Given the description of an element on the screen output the (x, y) to click on. 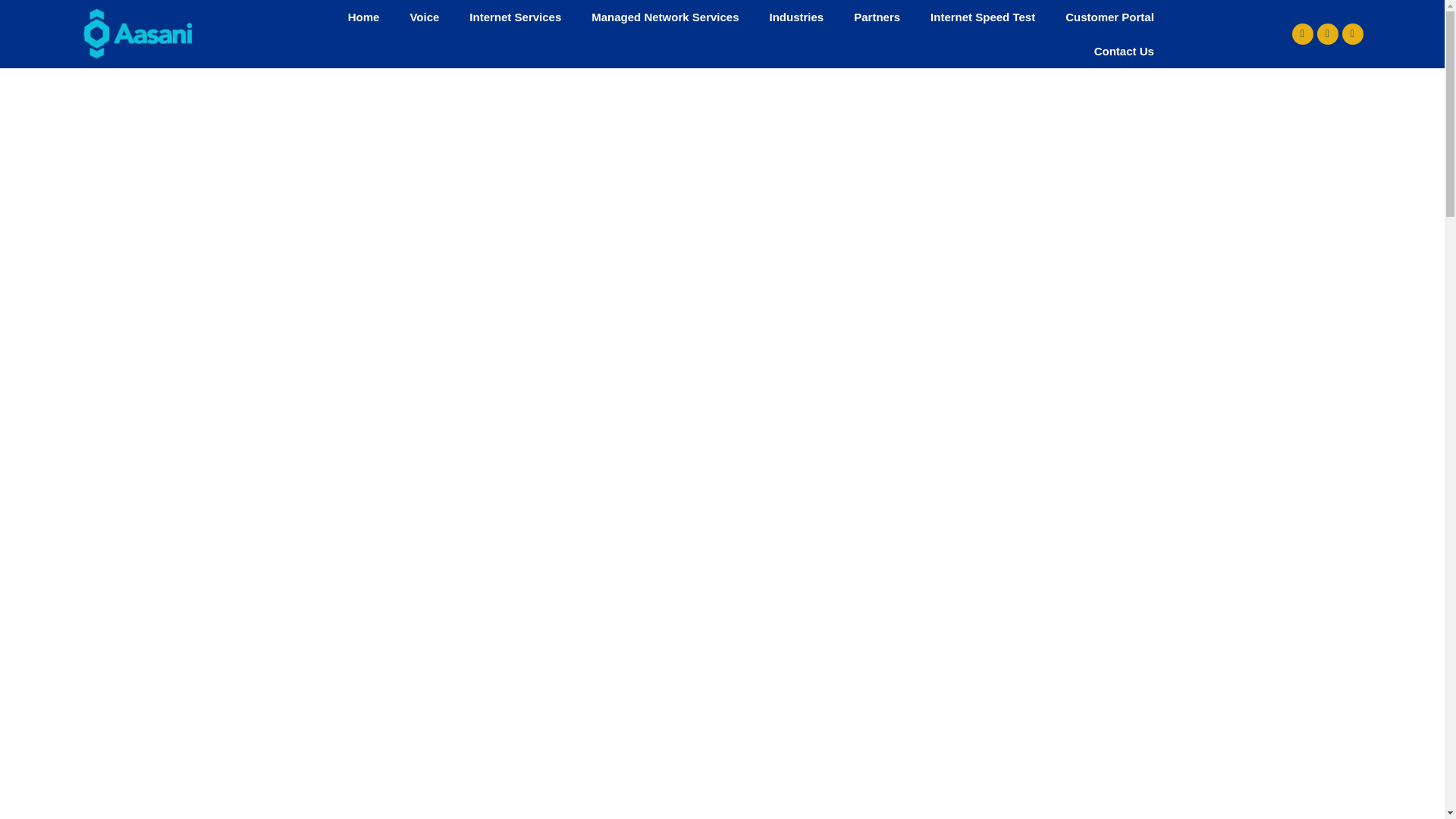
Managed Network Services (665, 17)
Home (363, 17)
Internet Services (515, 17)
Voice (424, 17)
Industries (797, 17)
Partners (876, 17)
